Given the description of an element on the screen output the (x, y) to click on. 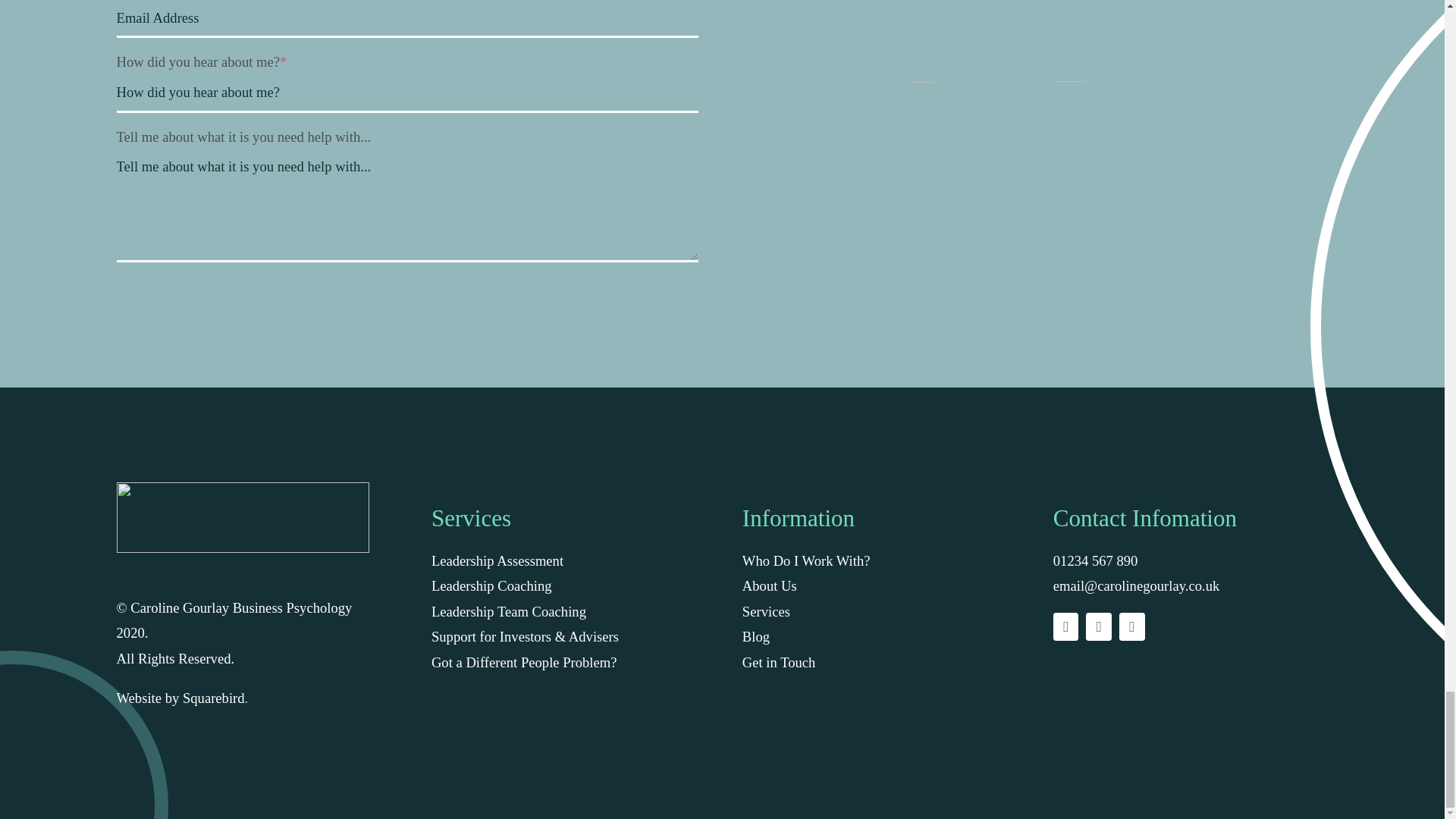
footer-logo (242, 517)
iStock-635978136 (922, 41)
Facebook (1131, 626)
contact-big-circle (1069, 40)
LinkedIn (1099, 626)
X (1065, 626)
